Given the description of an element on the screen output the (x, y) to click on. 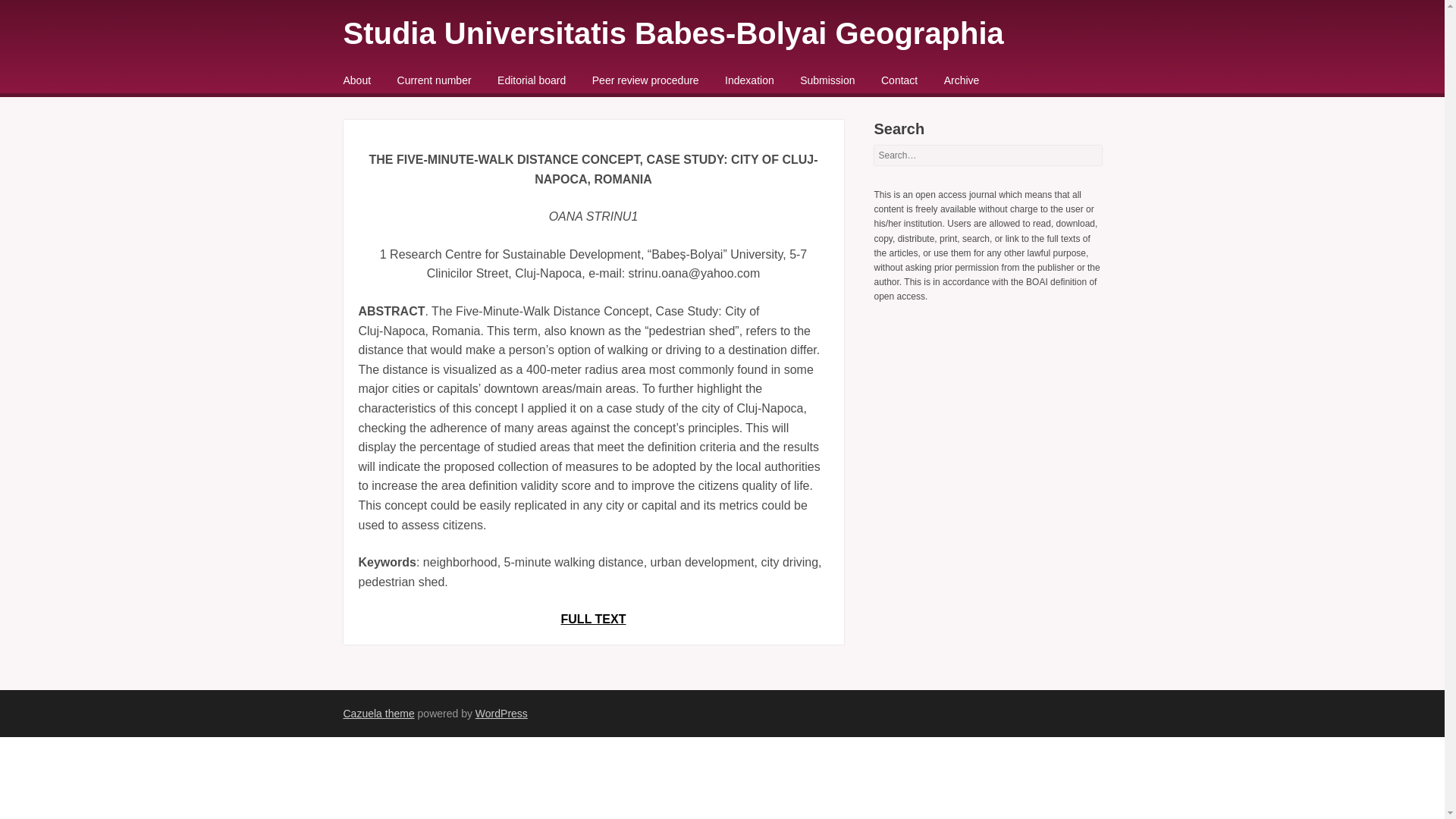
Skip to content (382, 81)
Submission (826, 79)
WordPress (501, 713)
Studia Universitatis Babes-Bolyai Geographia (672, 32)
Archive (961, 79)
Cazuela theme (377, 713)
Search (33, 17)
Skip to content (382, 81)
Contact (898, 79)
FULL TEXT (593, 618)
